Given the description of an element on the screen output the (x, y) to click on. 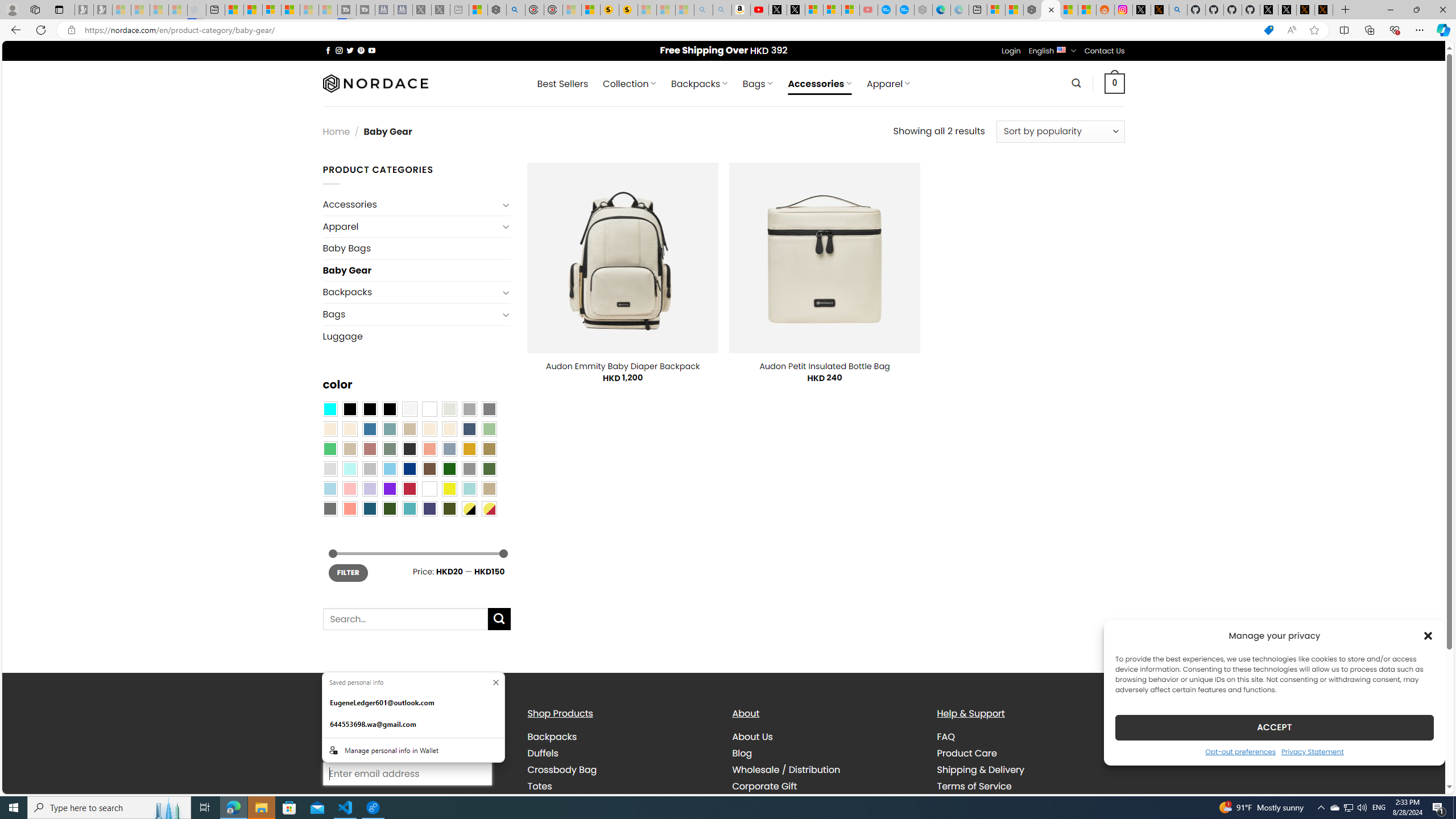
This site has coupons! Shopping in Microsoft Edge (1268, 29)
Terms of Service (1030, 785)
Gray (468, 468)
Totes (539, 785)
Black (369, 408)
Teal (408, 508)
Profile / X (1268, 9)
Nordace - Baby Gear (1050, 9)
ACCEPT (1274, 727)
Sage (389, 448)
Terms of Service (973, 785)
